Given the description of an element on the screen output the (x, y) to click on. 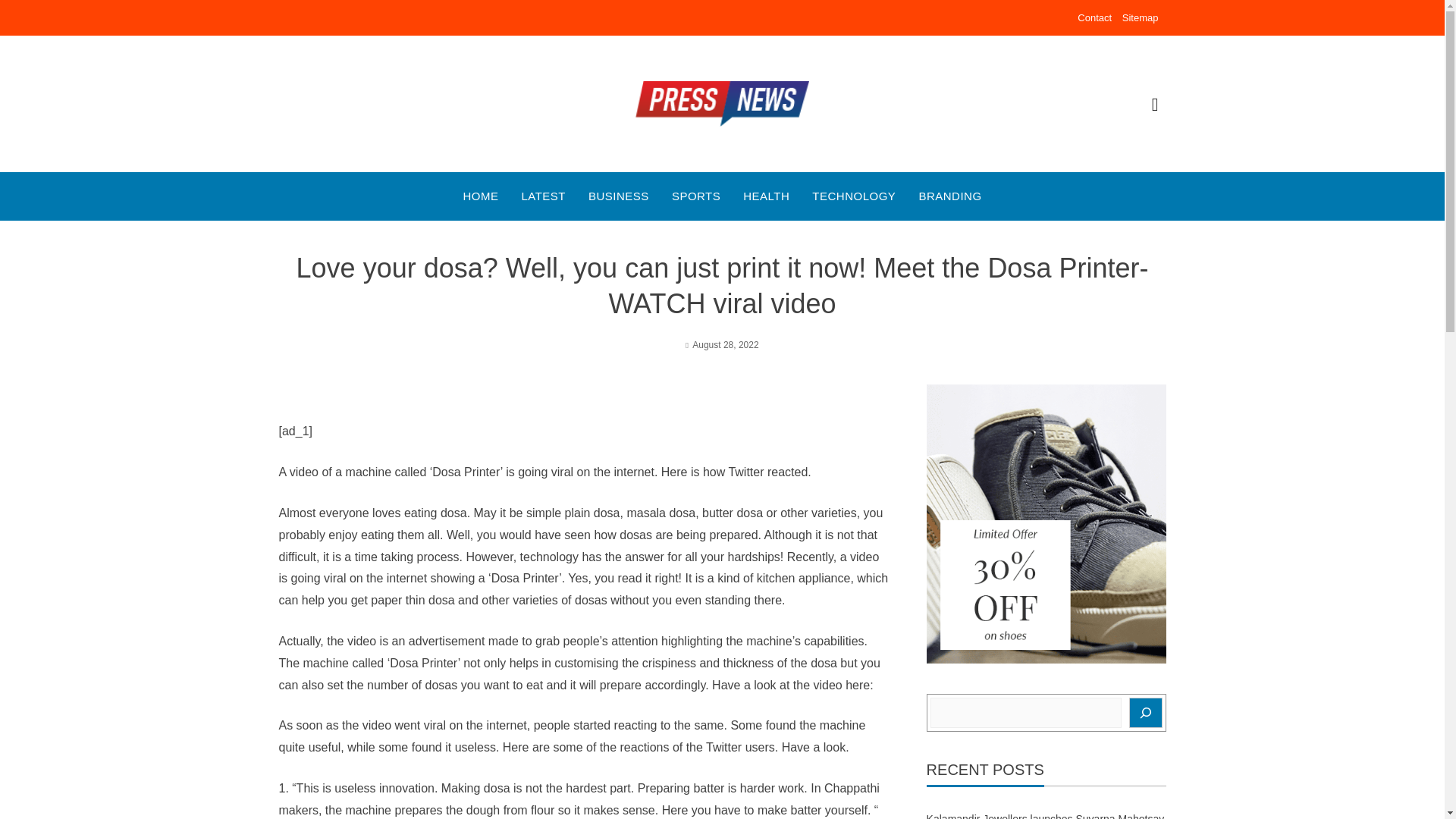
HOME (480, 196)
HEALTH (765, 196)
BUSINESS (618, 196)
LATEST (543, 196)
BRANDING (949, 196)
TECHNOLOGY (853, 196)
SPORTS (695, 196)
Contact (1094, 17)
Sitemap (1140, 17)
